Given the description of an element on the screen output the (x, y) to click on. 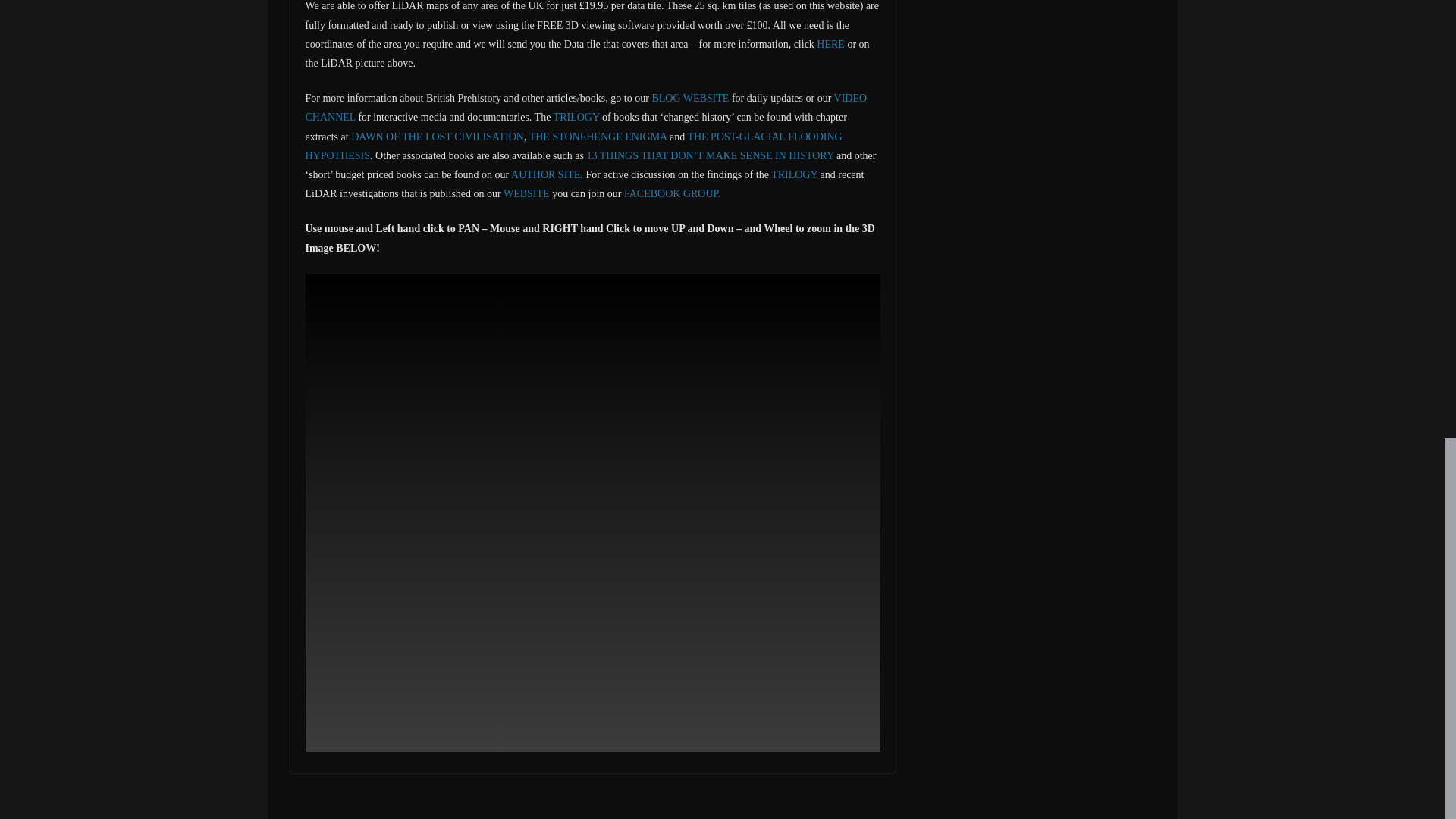
DAWN OF THE LOST CIVILISATION (437, 136)
THE POST-GLACIAL FLOODING HYPOTHESIS (572, 146)
TRILOGY (793, 174)
HERE (830, 43)
FACEBOOK GROUP. (672, 193)
BLOG WEBSITE (689, 98)
TRILOGY  (577, 116)
THE STONEHENGE ENIGMA  (599, 136)
WEBSITE  (527, 193)
AUTHOR SITE (545, 174)
VIDEO CHANNEL (585, 107)
